Given the description of an element on the screen output the (x, y) to click on. 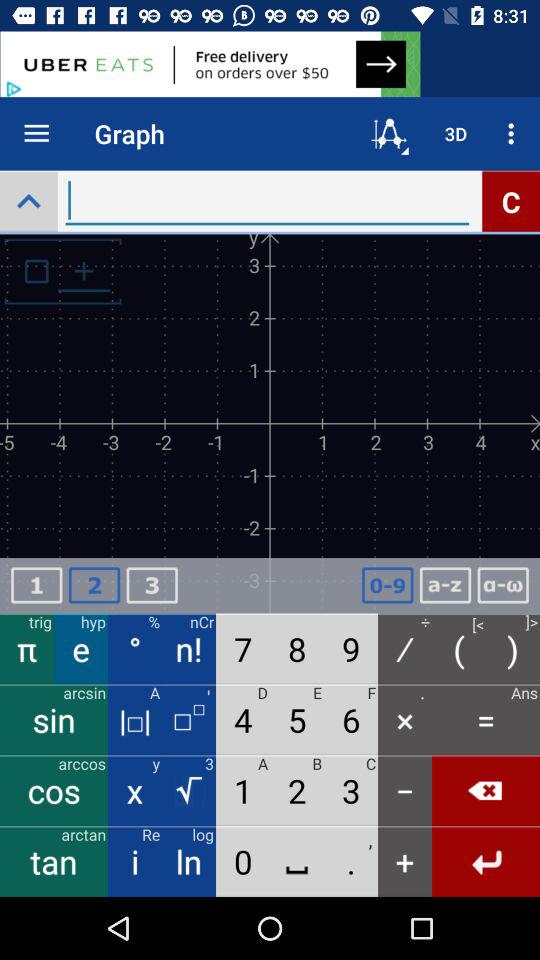
enter words and search (267, 200)
